Given the description of an element on the screen output the (x, y) to click on. 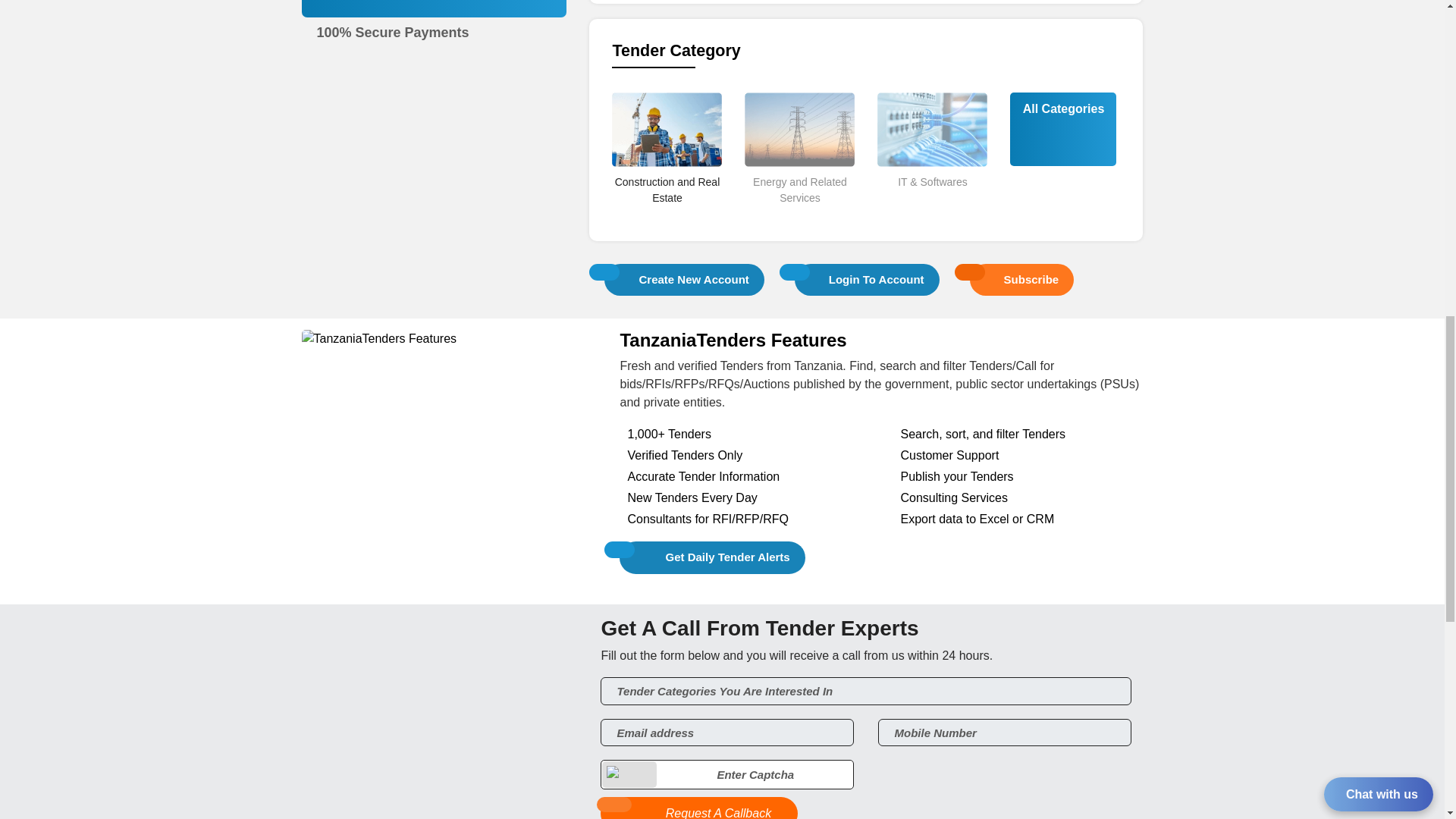
Get Daily Tender Alerts (712, 557)
Construction and Real Estate (666, 215)
Request A Callback (698, 807)
Energy and Related Services (799, 215)
Create New Account (684, 278)
Subscribe (1022, 278)
All Categories (1062, 108)
Login To Account (866, 278)
Subscription Plans (434, 17)
